Given the description of an element on the screen output the (x, y) to click on. 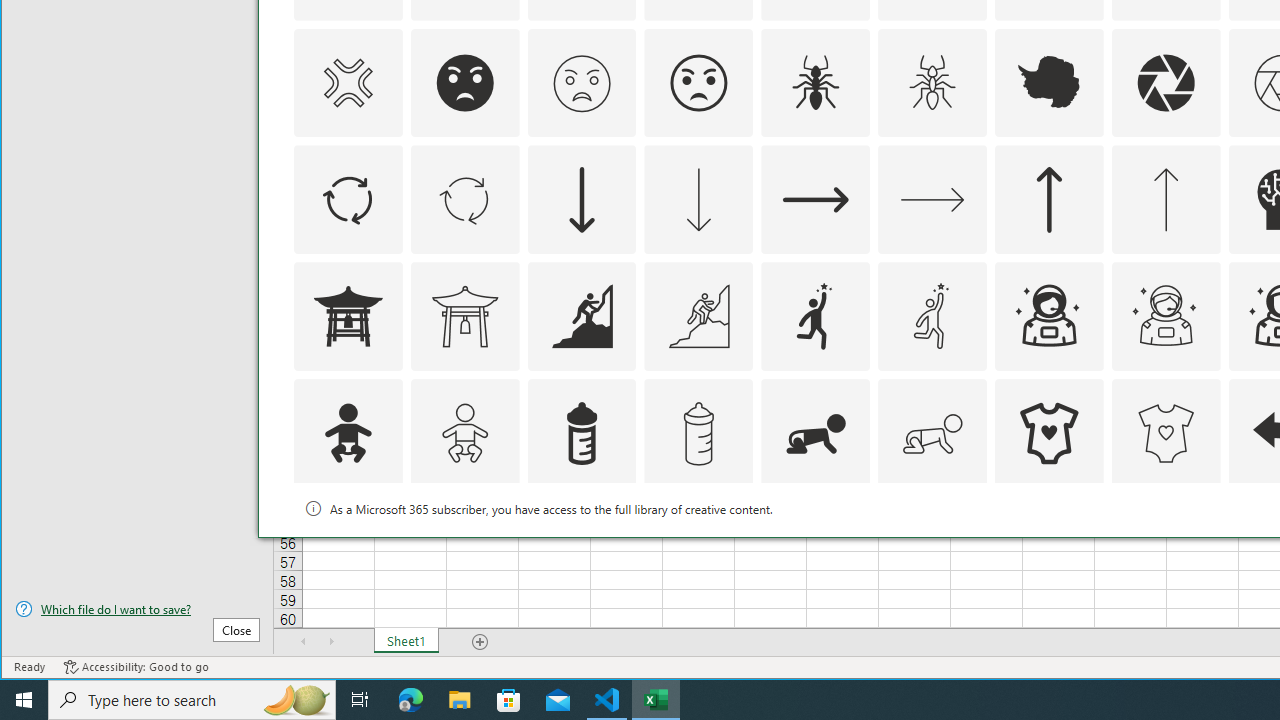
Task View (359, 699)
AutomationID: Icons_ArrowCircle (348, 200)
AutomationID: Icons_AstronautFemale_M (1165, 316)
AutomationID: Icons_Badge4 (932, 550)
AutomationID: Icons_Aperture (1165, 82)
Microsoft Edge (411, 699)
AutomationID: Icons_Ant (815, 82)
AutomationID: Icons_Aspiration (582, 316)
AutomationID: Icons_AsianTemple1_M (464, 316)
